Given the description of an element on the screen output the (x, y) to click on. 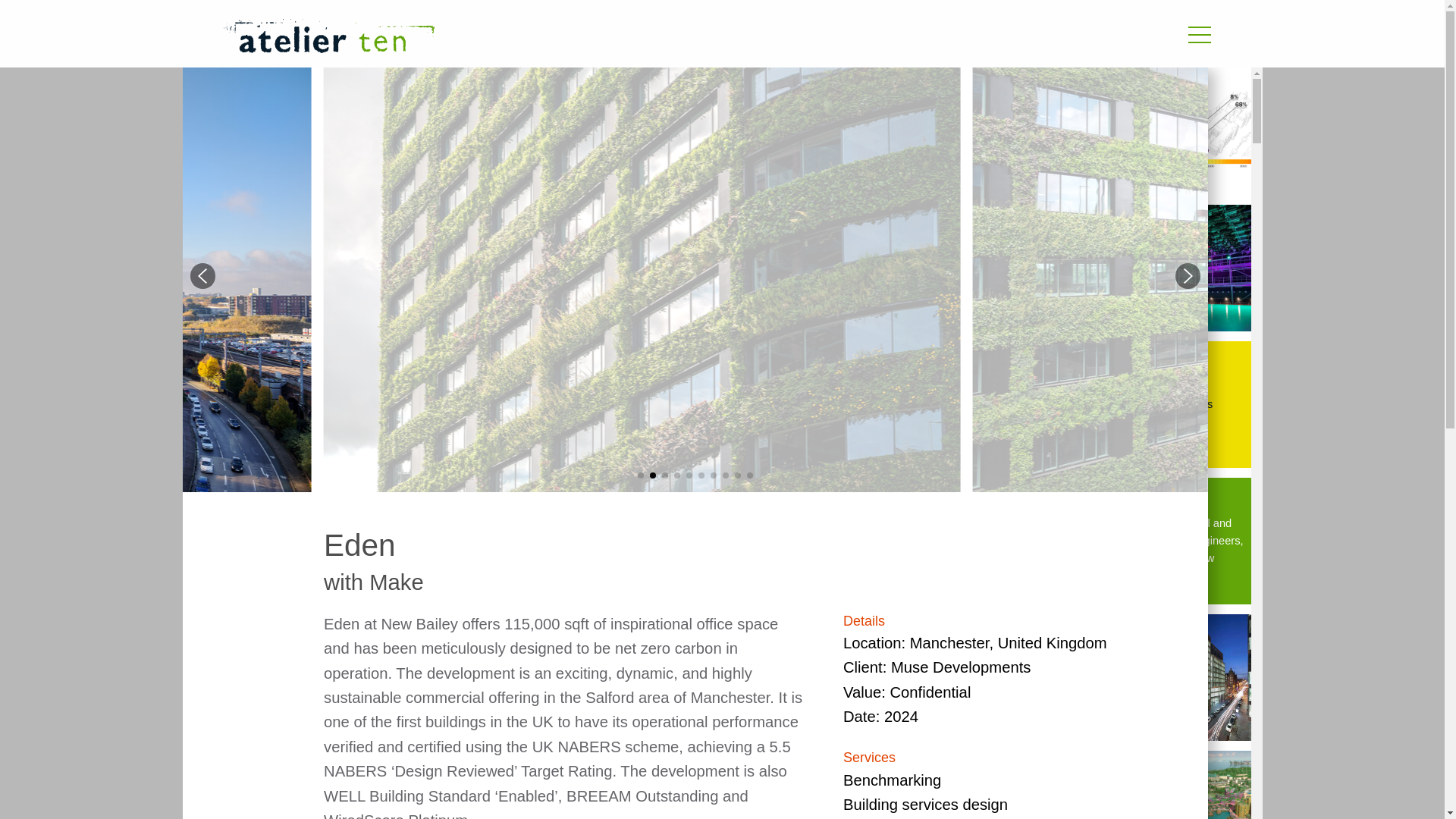
logo (536, 38)
logo (327, 35)
Click to go to the Atelier Ten homepage (536, 38)
